Given the description of an element on the screen output the (x, y) to click on. 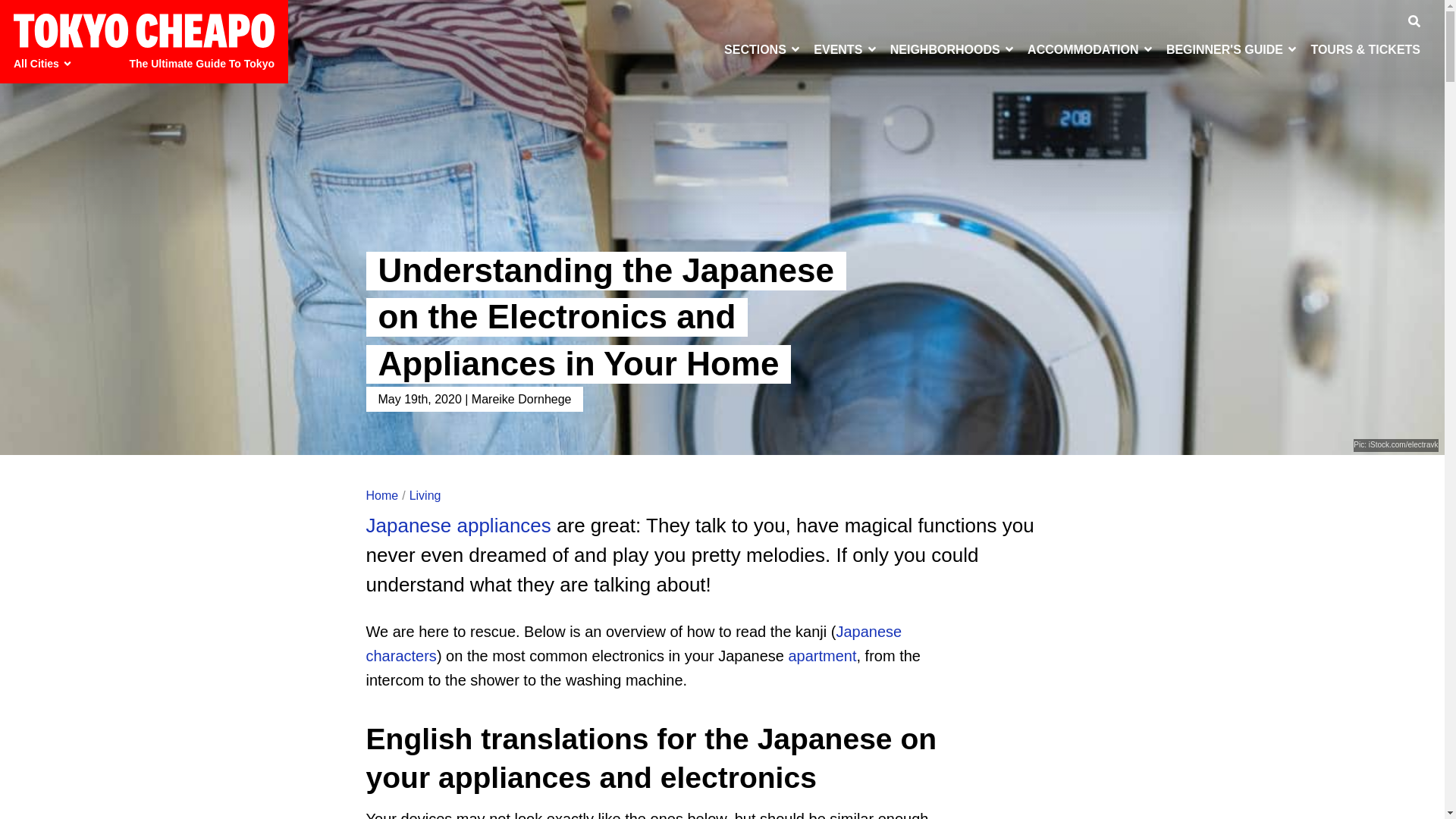
All Cities (45, 64)
Sections (762, 49)
Tokyo Cheapo Homepage (144, 29)
NEIGHBORHOODS (952, 49)
Tokyo Cheapo (144, 30)
SECTIONS (762, 49)
EVENTS (845, 49)
